Given the description of an element on the screen output the (x, y) to click on. 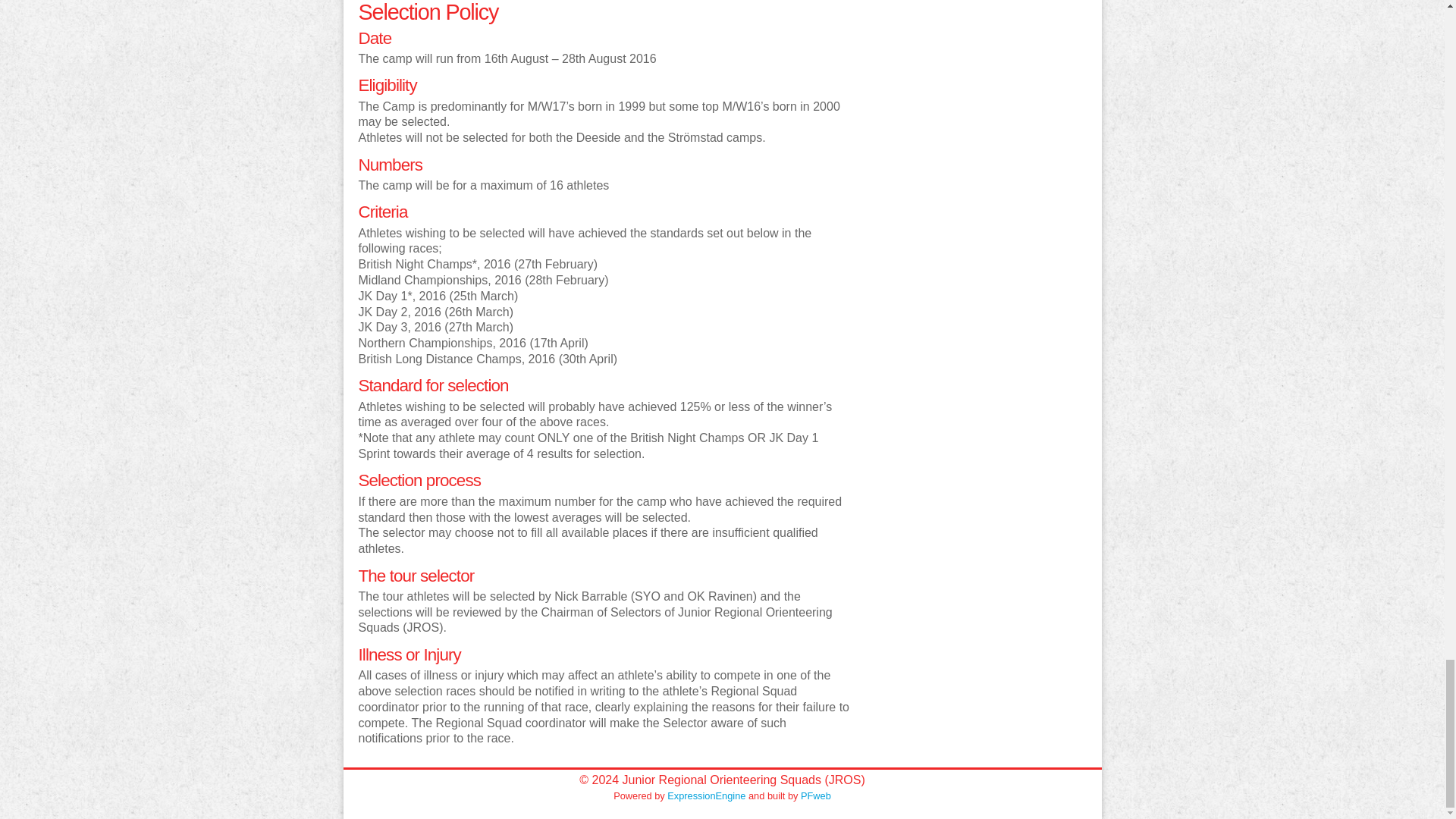
PFweb (815, 795)
ExpressionEngine (705, 795)
